Given the description of an element on the screen output the (x, y) to click on. 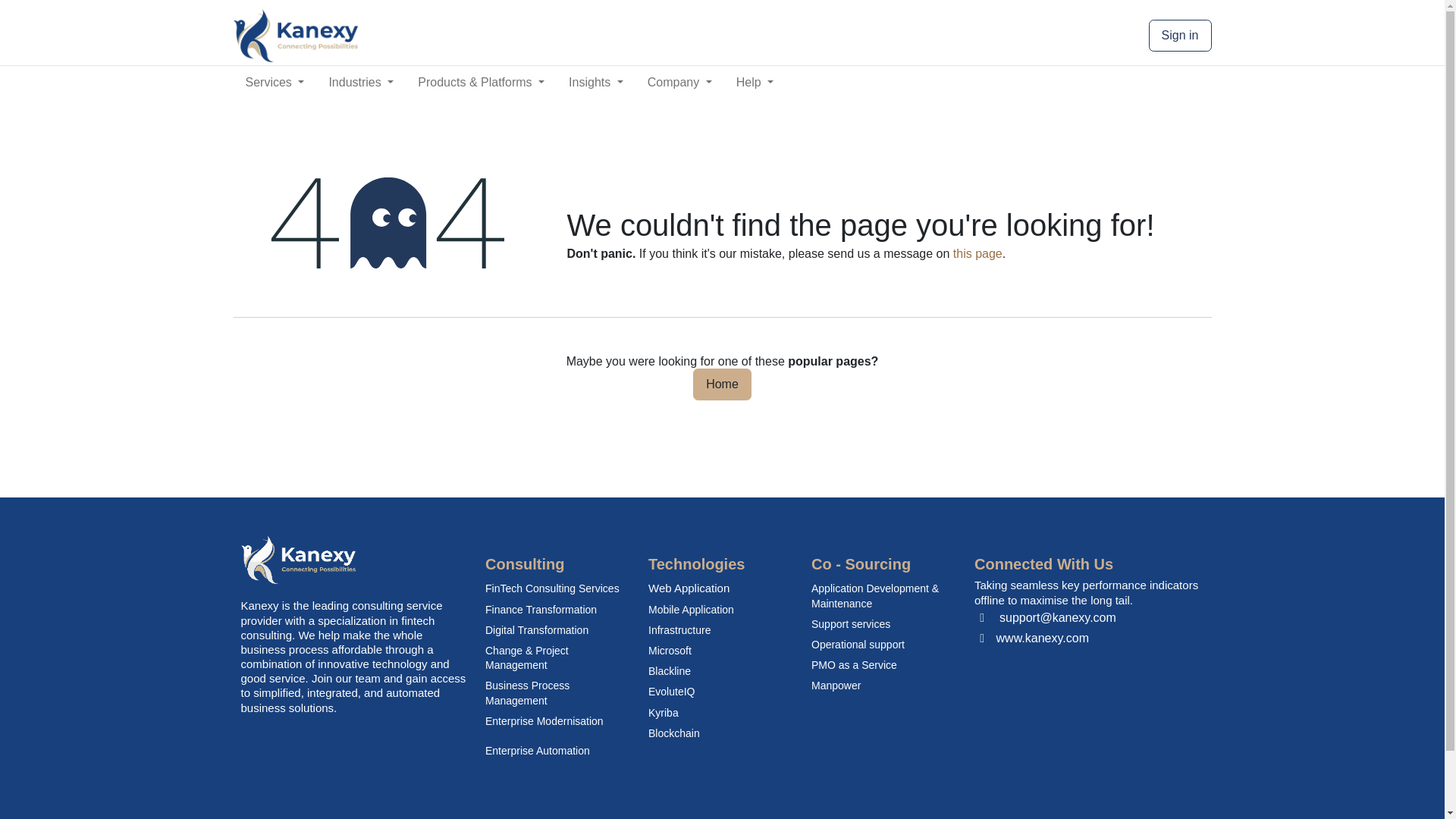
My Website (295, 35)
Sign in (1179, 35)
Sign in (722, 32)
Industries (360, 81)
Services (274, 81)
